Given the description of an element on the screen output the (x, y) to click on. 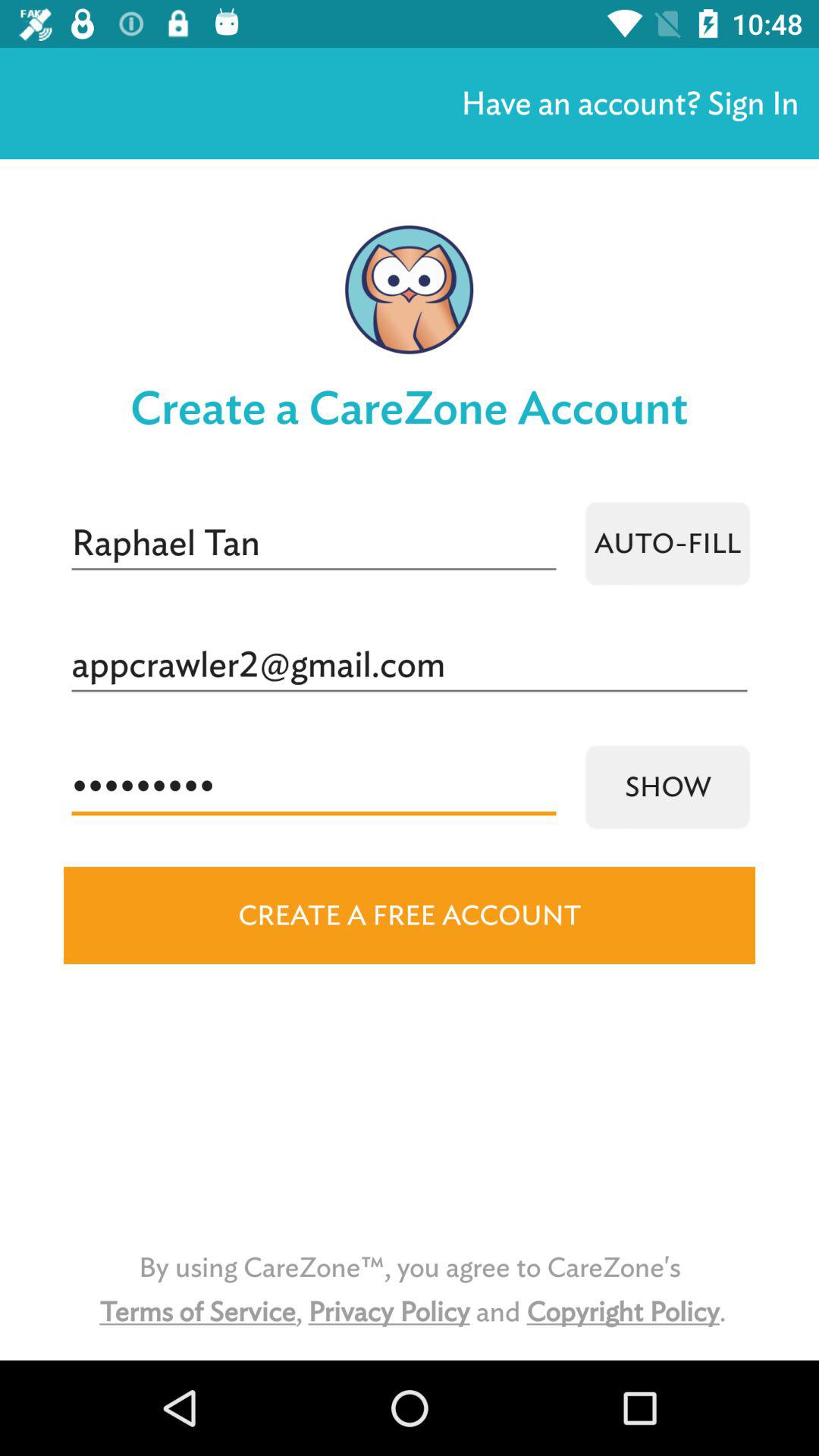
choose the icon above create a free icon (313, 787)
